Given the description of an element on the screen output the (x, y) to click on. 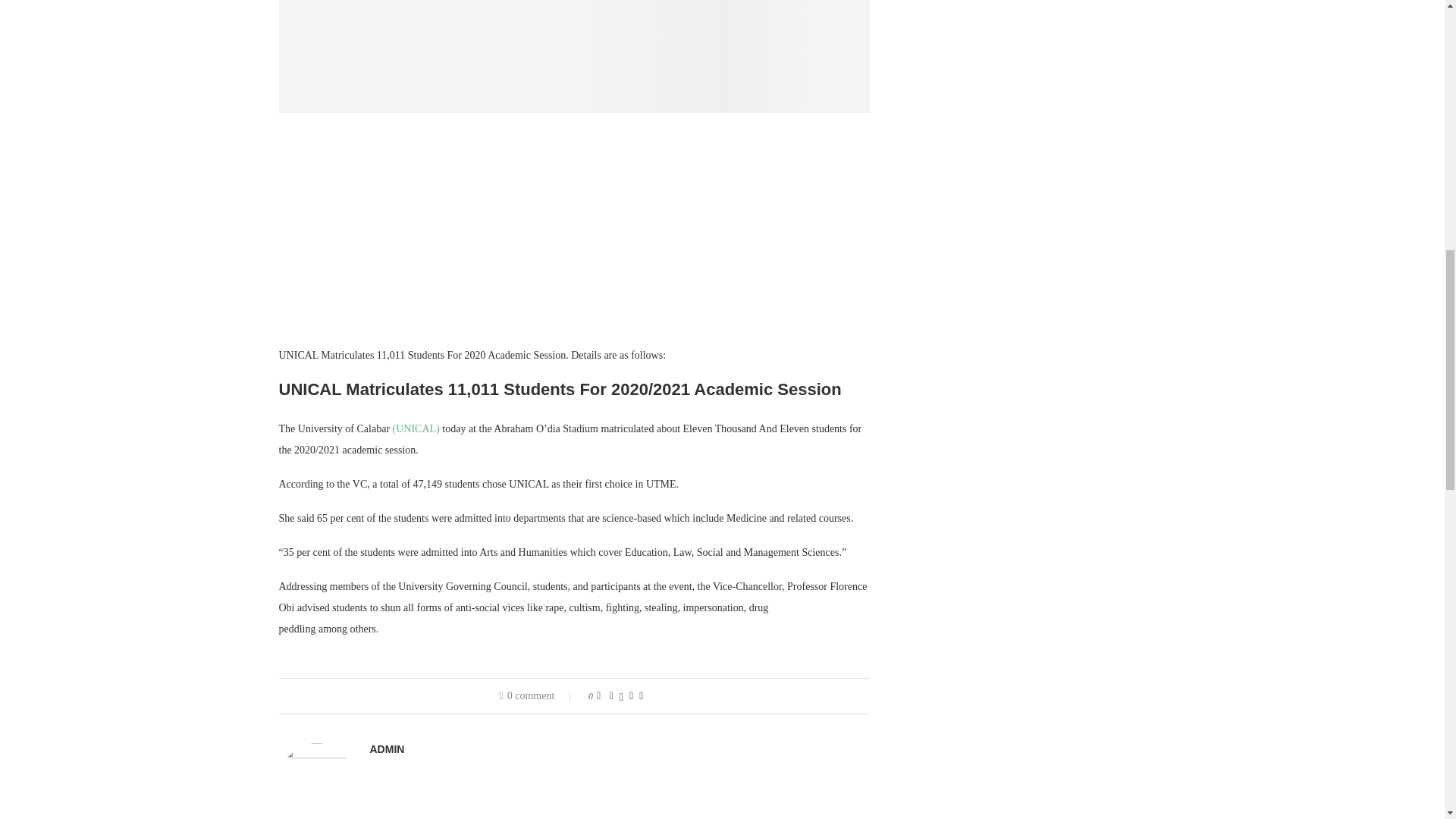
Advertisement (574, 238)
Author admin (386, 748)
ADMIN (386, 748)
